Given the description of an element on the screen output the (x, y) to click on. 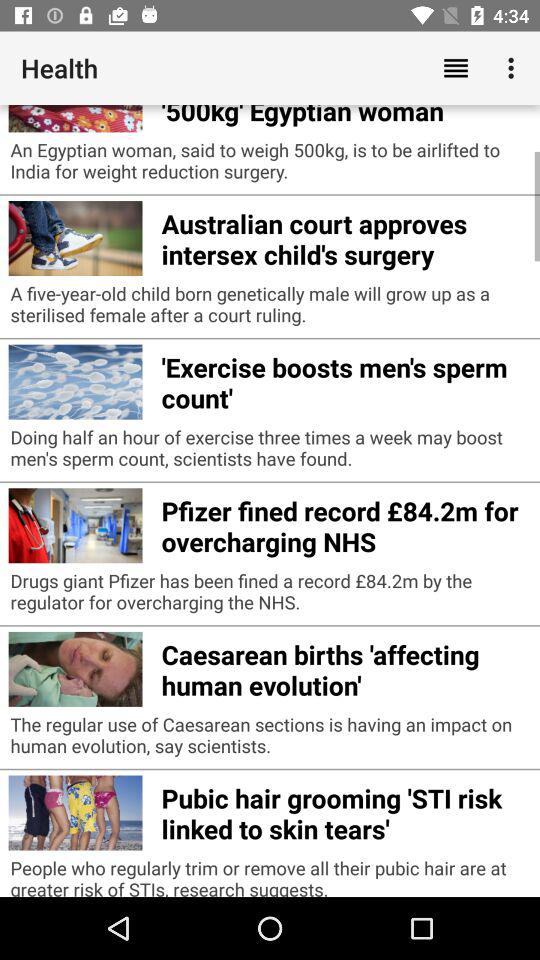
open item above the the regular use (345, 667)
